Given the description of an element on the screen output the (x, y) to click on. 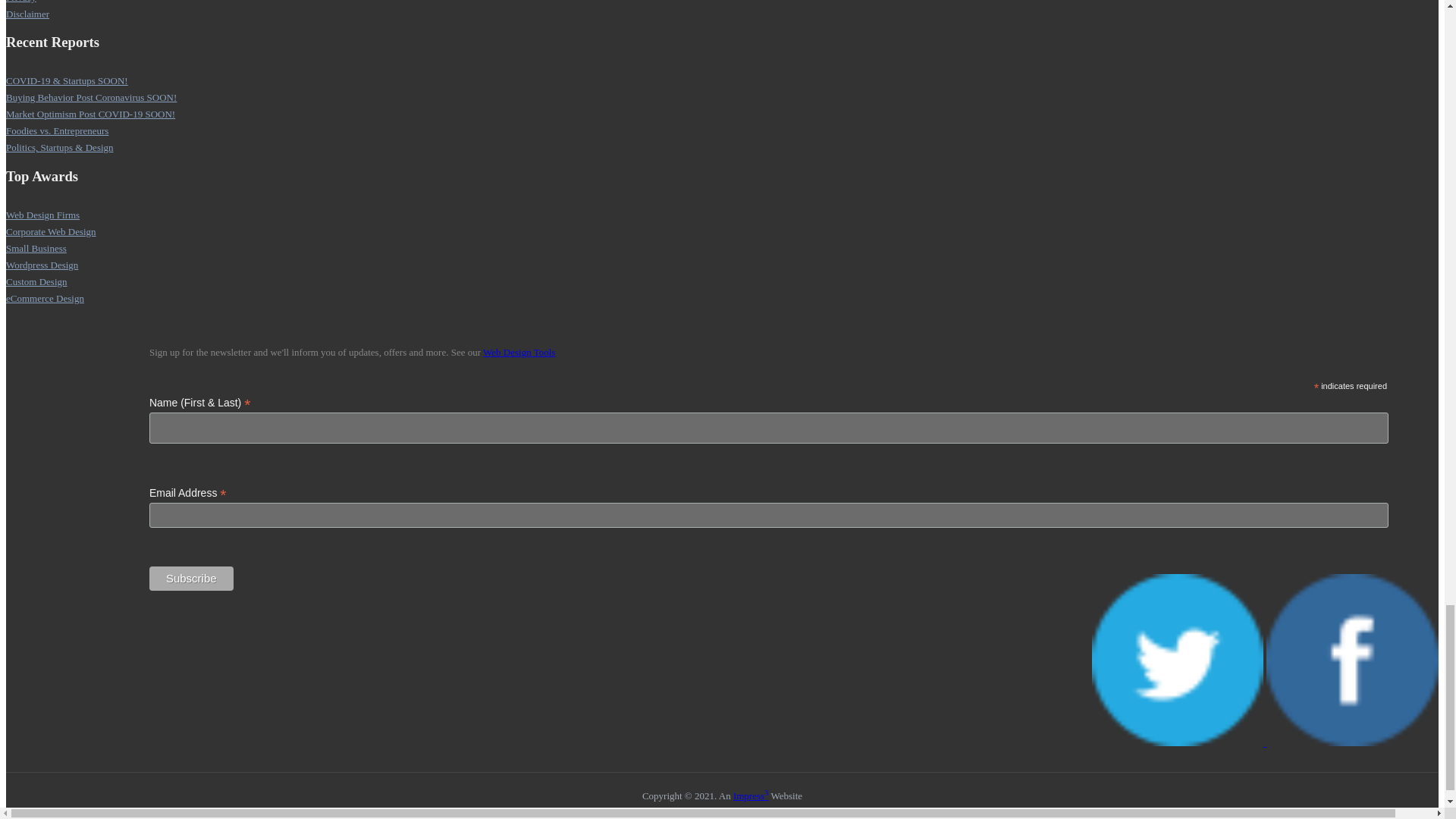
Subscribe (190, 578)
Web Design Tools (518, 351)
